Given the description of an element on the screen output the (x, y) to click on. 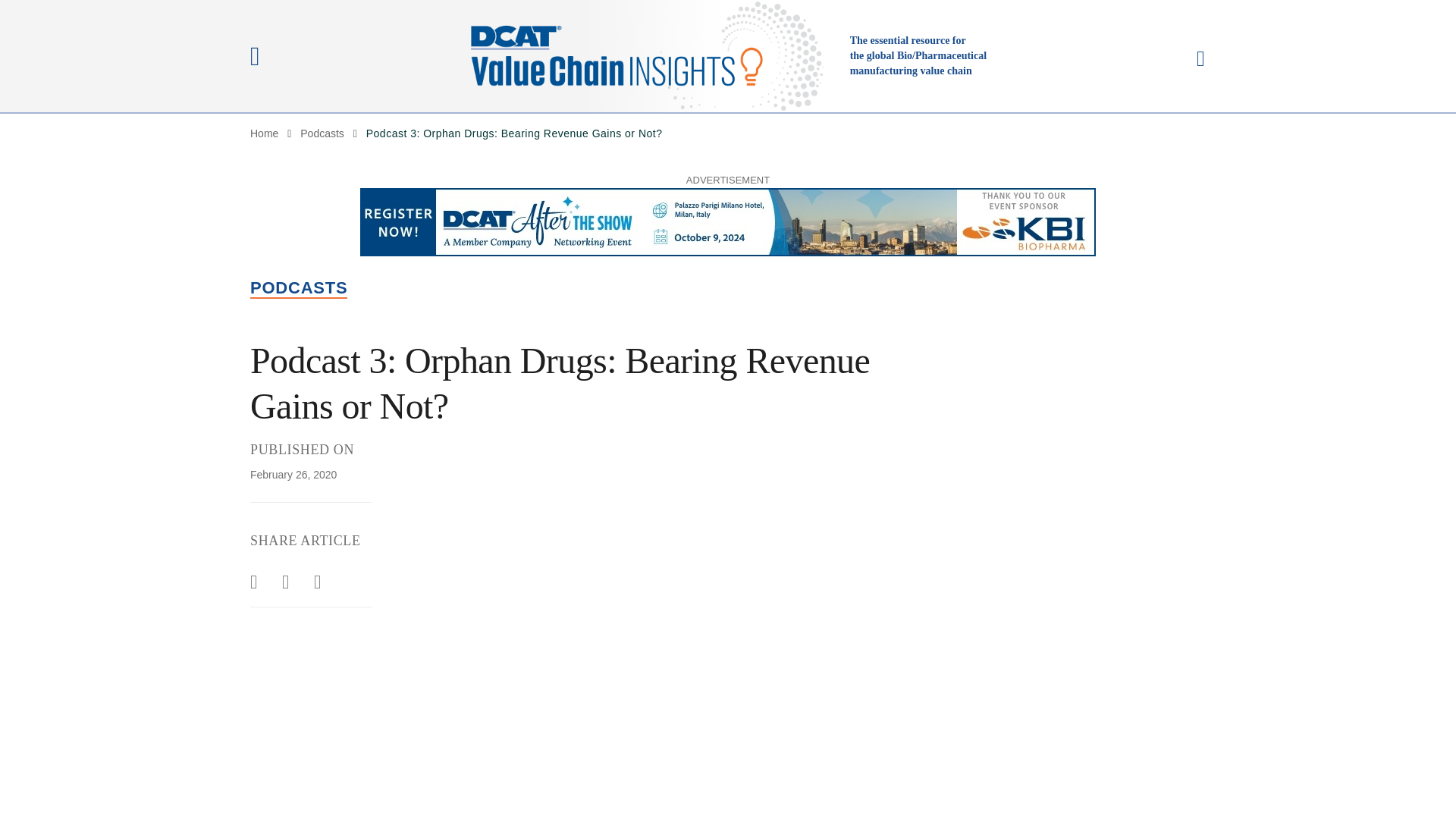
PODCASTS (298, 288)
Home (264, 133)
Podcasts (321, 133)
